Given the description of an element on the screen output the (x, y) to click on. 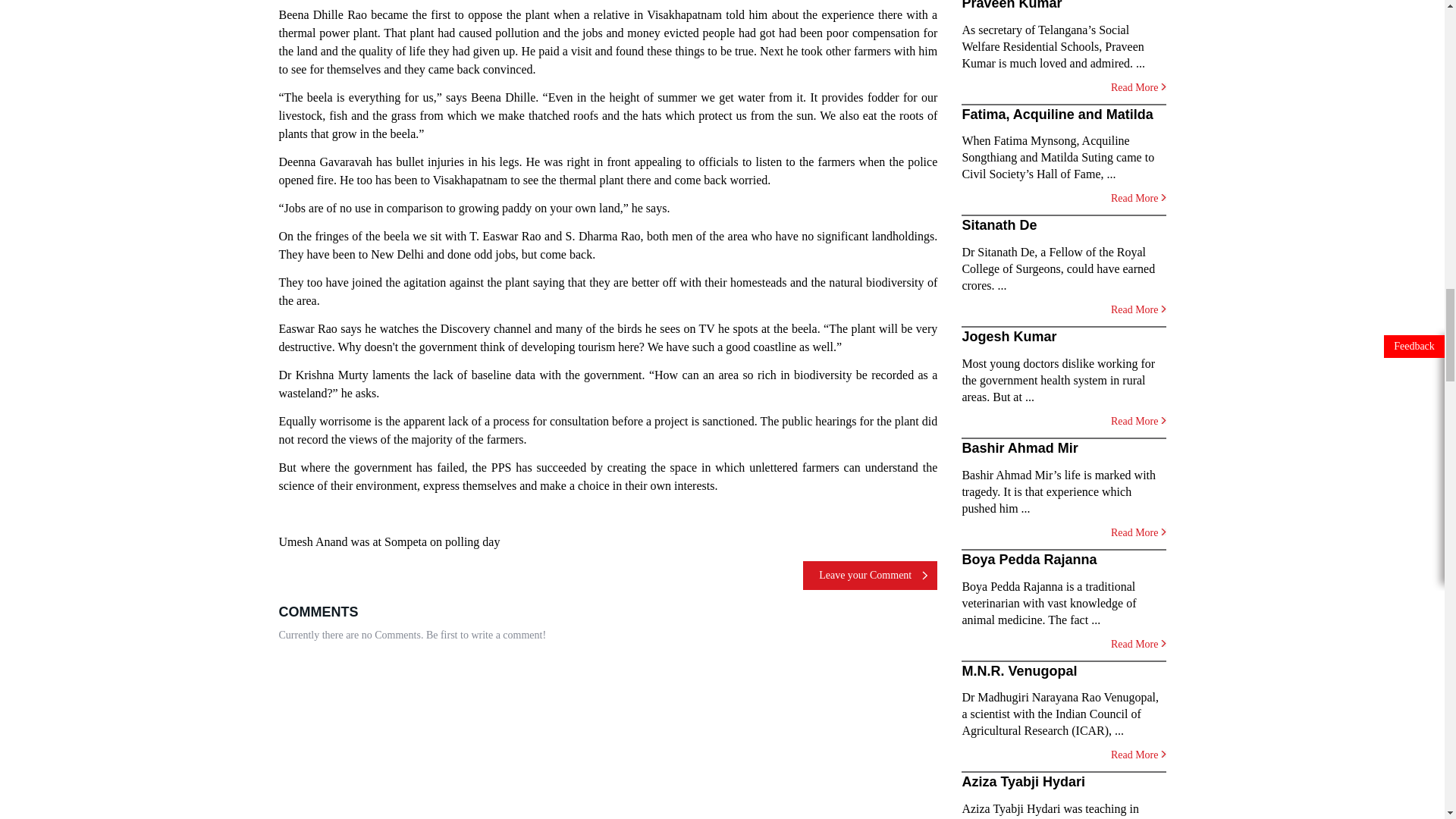
Leave your Comment (870, 575)
